Given the description of an element on the screen output the (x, y) to click on. 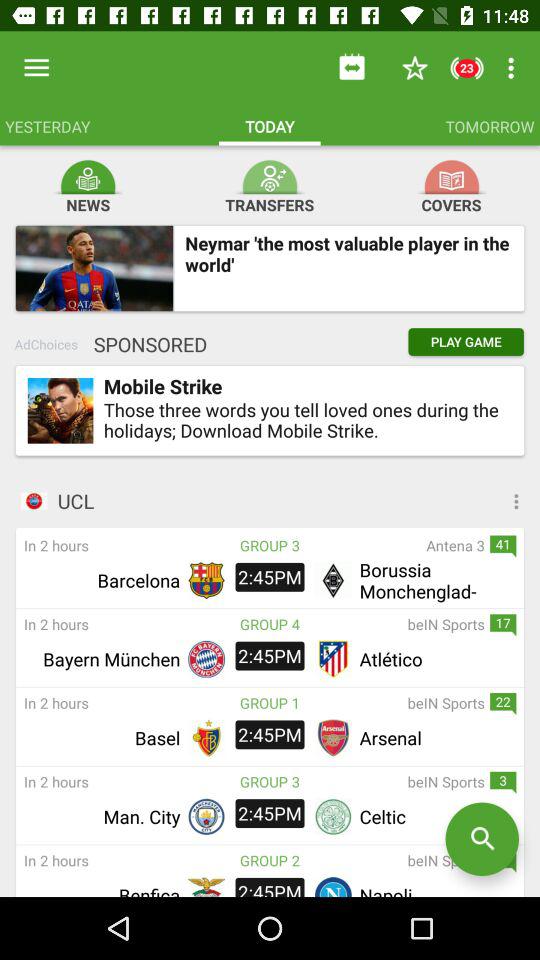
press the icon below the sponsored item (60, 410)
